Given the description of an element on the screen output the (x, y) to click on. 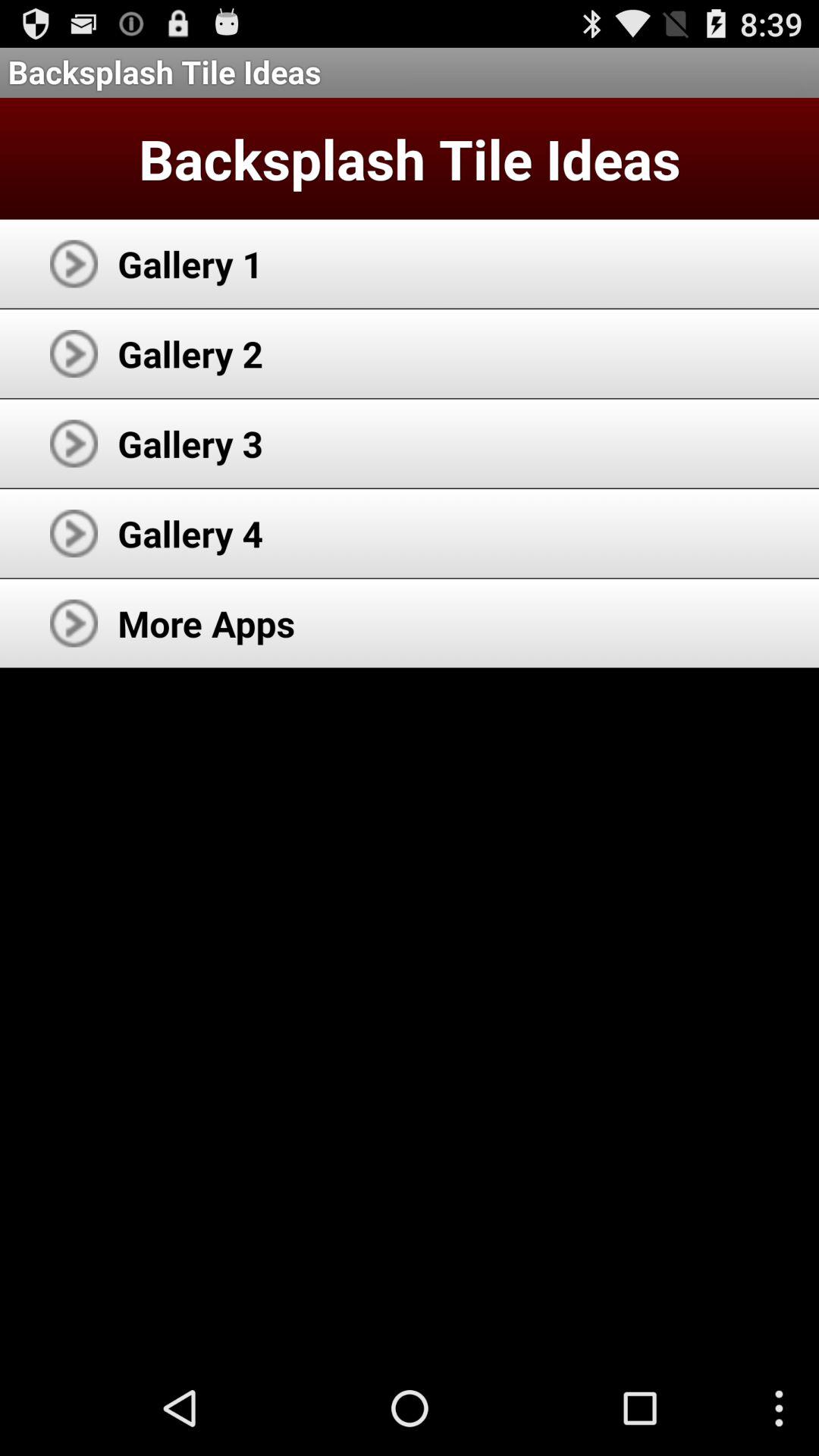
open icon below the gallery 1 (190, 353)
